Given the description of an element on the screen output the (x, y) to click on. 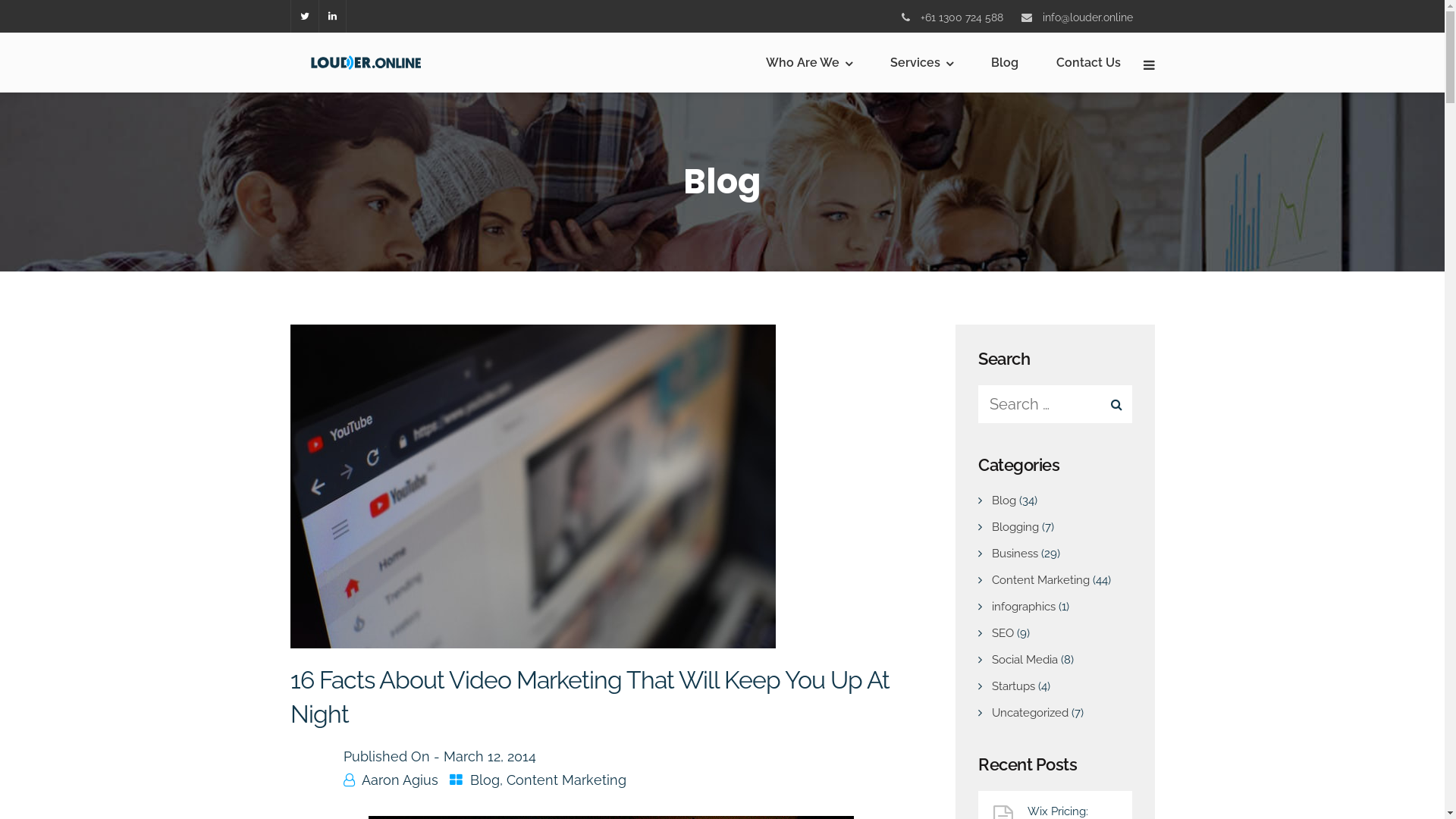
Uncategorized Element type: text (1029, 712)
Social Media Element type: text (1024, 659)
Who Are We Element type: text (808, 62)
info@louder.online Element type: text (1086, 17)
Blog Element type: text (1003, 62)
Contact Us Element type: text (1087, 62)
Content Marketing Element type: text (566, 779)
infographics Element type: text (1023, 606)
Blog Element type: text (484, 779)
Startups Element type: text (1013, 686)
Blog Element type: text (1003, 500)
March 12, 2014 Element type: text (488, 756)
Services Element type: text (921, 62)
Blogging Element type: text (1014, 526)
+61 1300 724 588 Element type: text (961, 17)
Content Marketing Element type: text (1040, 579)
SEO Element type: text (1002, 633)
Business Element type: text (1014, 553)
Aaron Agius Element type: text (398, 779)
